Given the description of an element on the screen output the (x, y) to click on. 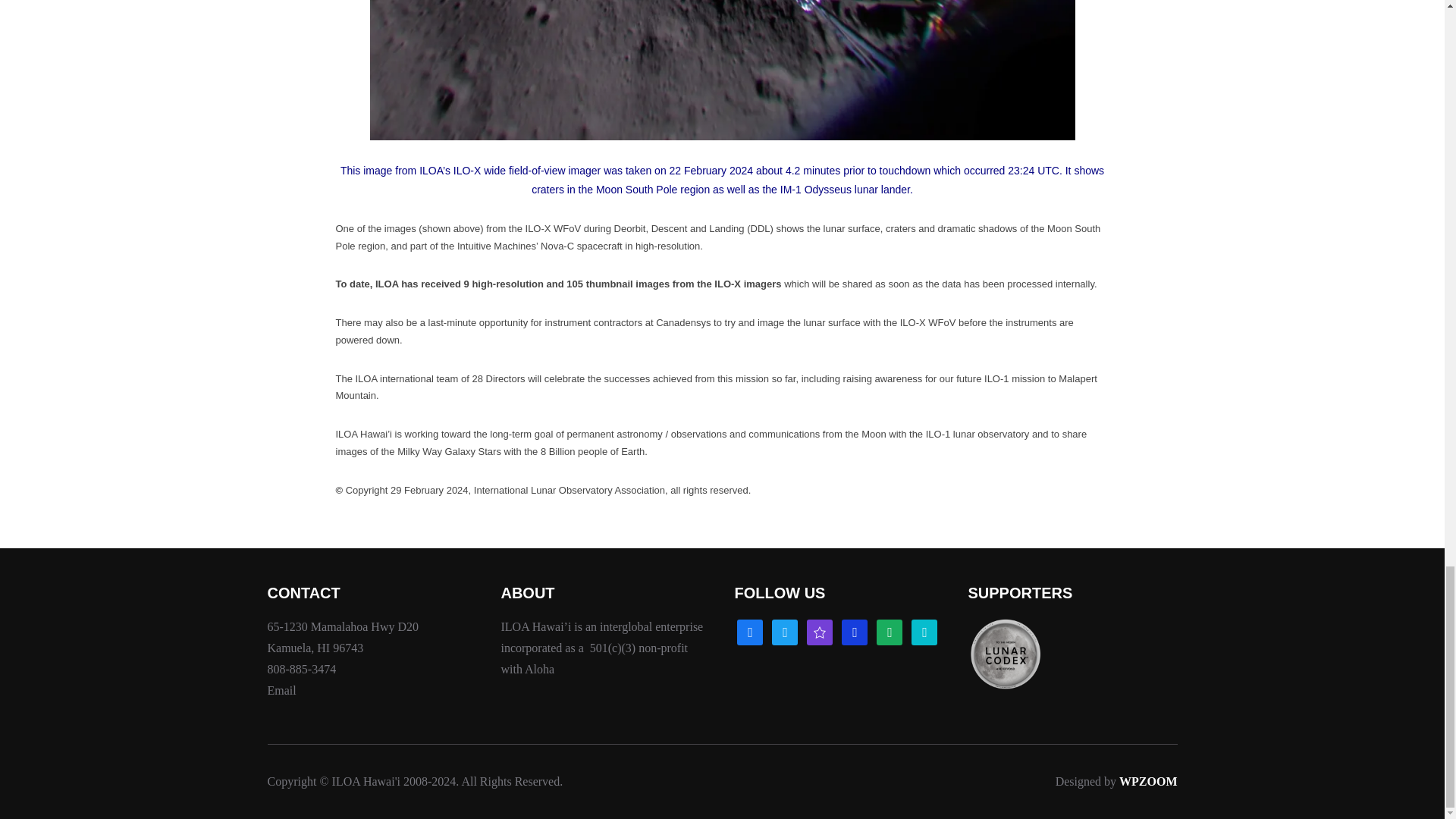
Follow Us on Twitter (784, 631)
Space Age Publishing Company (924, 631)
Space Calendar (854, 631)
Galaxy Forum (819, 631)
Lunar Enterprise Daily (889, 631)
Like Us on Facebook (749, 631)
